Given the description of an element on the screen output the (x, y) to click on. 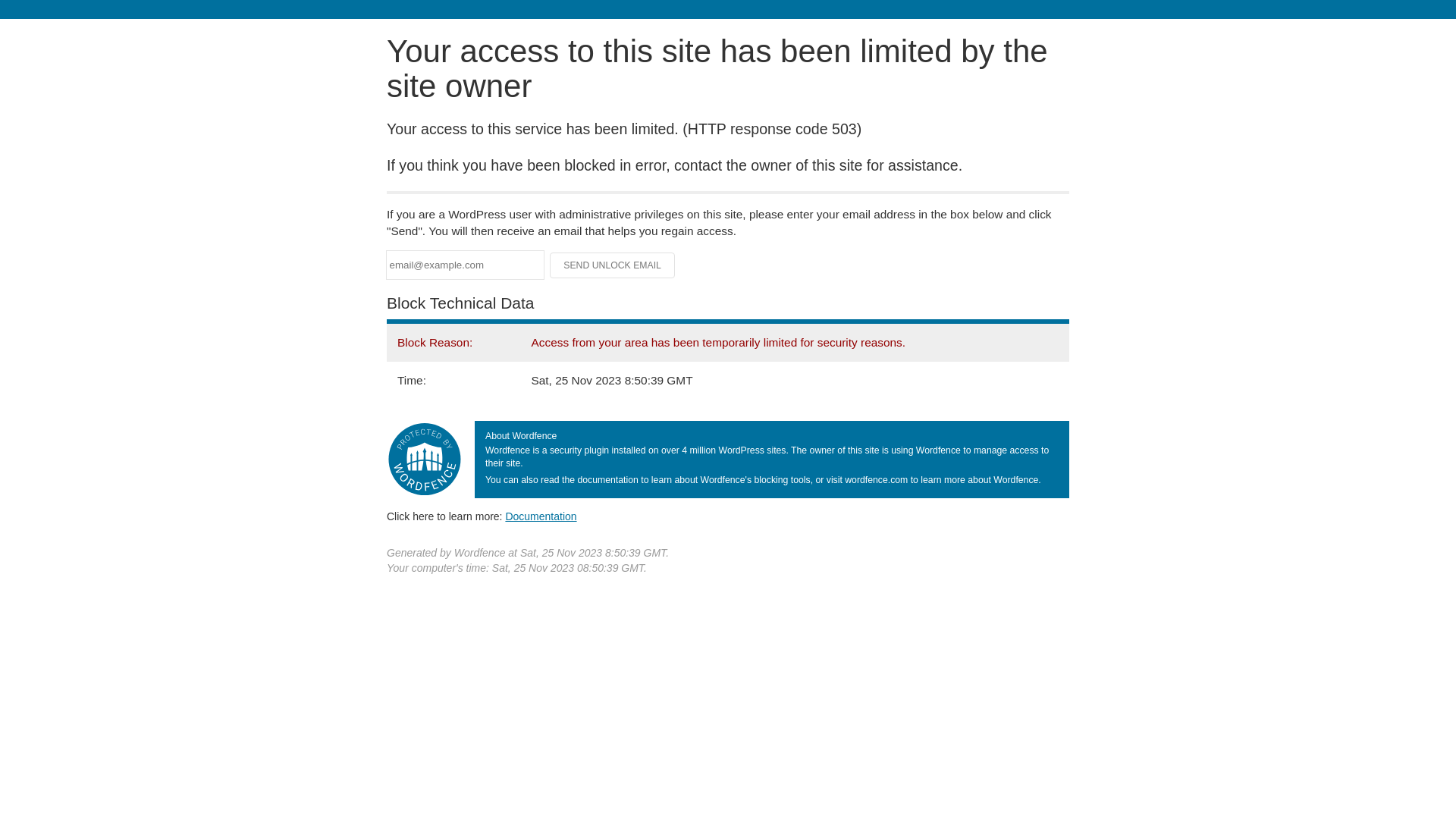
Send Unlock Email Element type: text (612, 265)
Documentation Element type: text (540, 516)
